Given the description of an element on the screen output the (x, y) to click on. 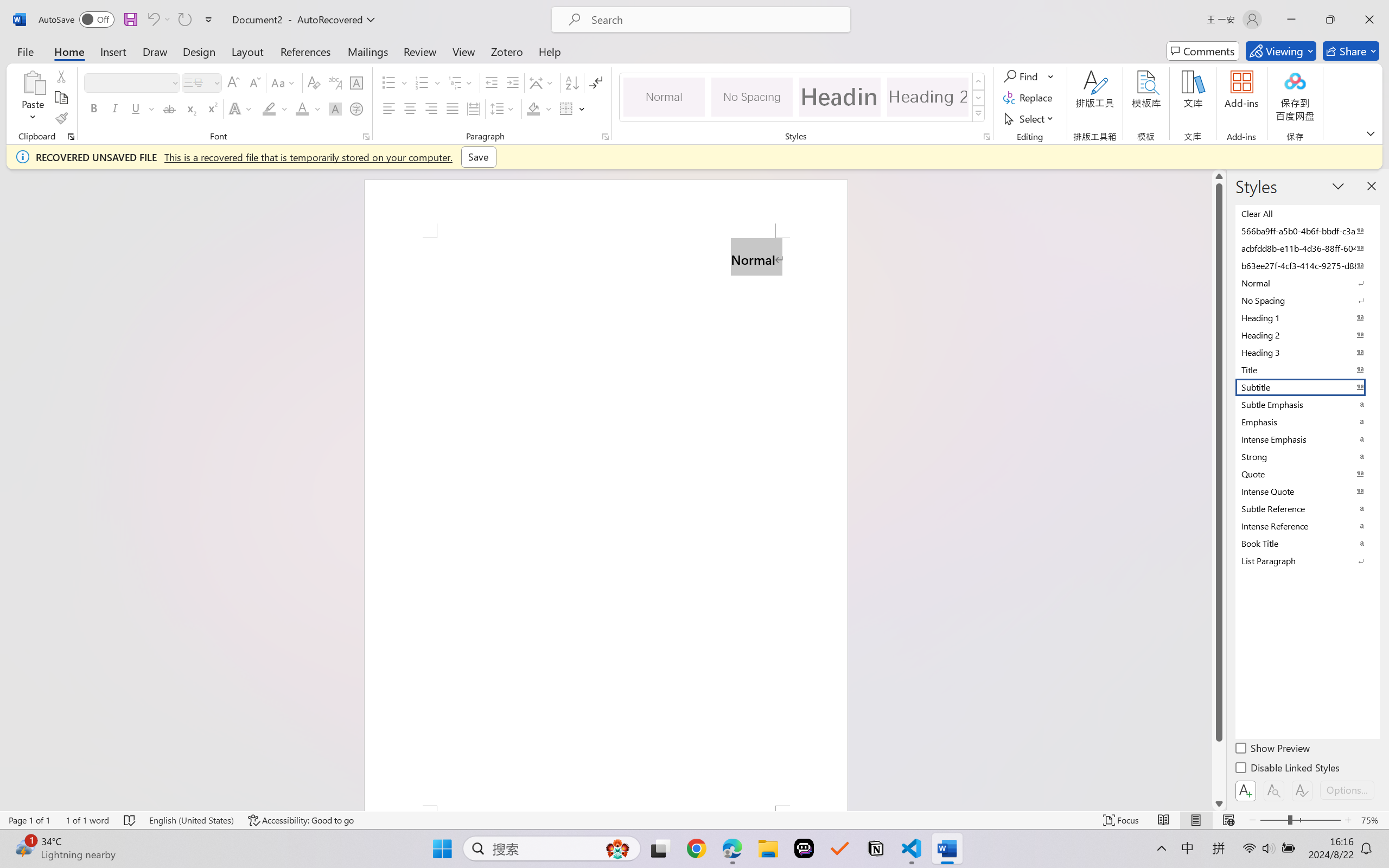
566ba9ff-a5b0-4b6f-bbdf-c3ab41993fc2 (1306, 230)
Shading (539, 108)
Ribbon Display Options (1370, 132)
Row up (978, 81)
Subtle Emphasis (1306, 404)
No Spacing (1306, 300)
List Paragraph (1306, 560)
Replace... (1029, 97)
Language English (United States) (190, 819)
Emphasis (1306, 421)
Align Right (431, 108)
